Given the description of an element on the screen output the (x, y) to click on. 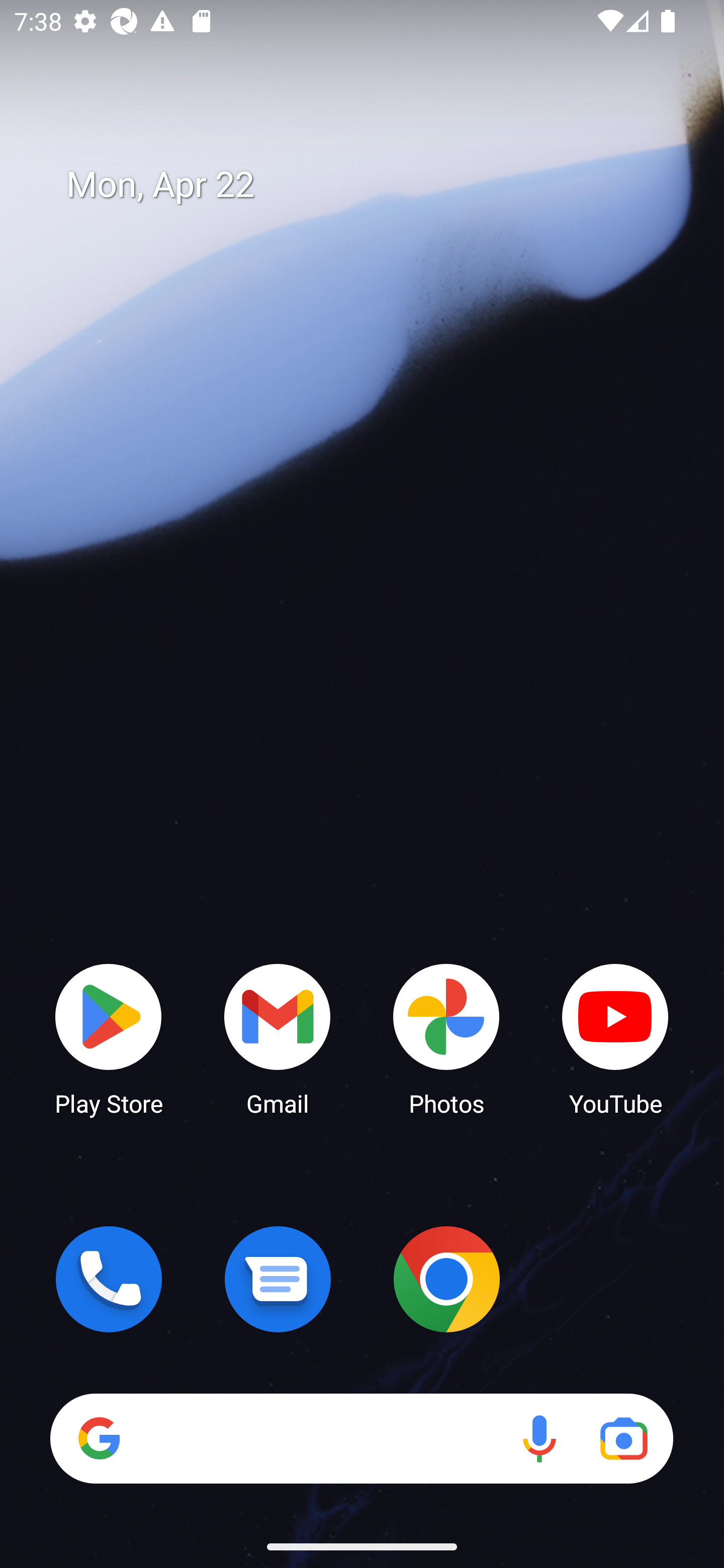
Mon, Apr 22 (375, 184)
Play Store (108, 1038)
Gmail (277, 1038)
Photos (445, 1038)
YouTube (615, 1038)
Phone (108, 1279)
Messages (277, 1279)
Chrome (446, 1279)
Search Voice search Google Lens (361, 1438)
Voice search (539, 1438)
Google Lens (623, 1438)
